Given the description of an element on the screen output the (x, y) to click on. 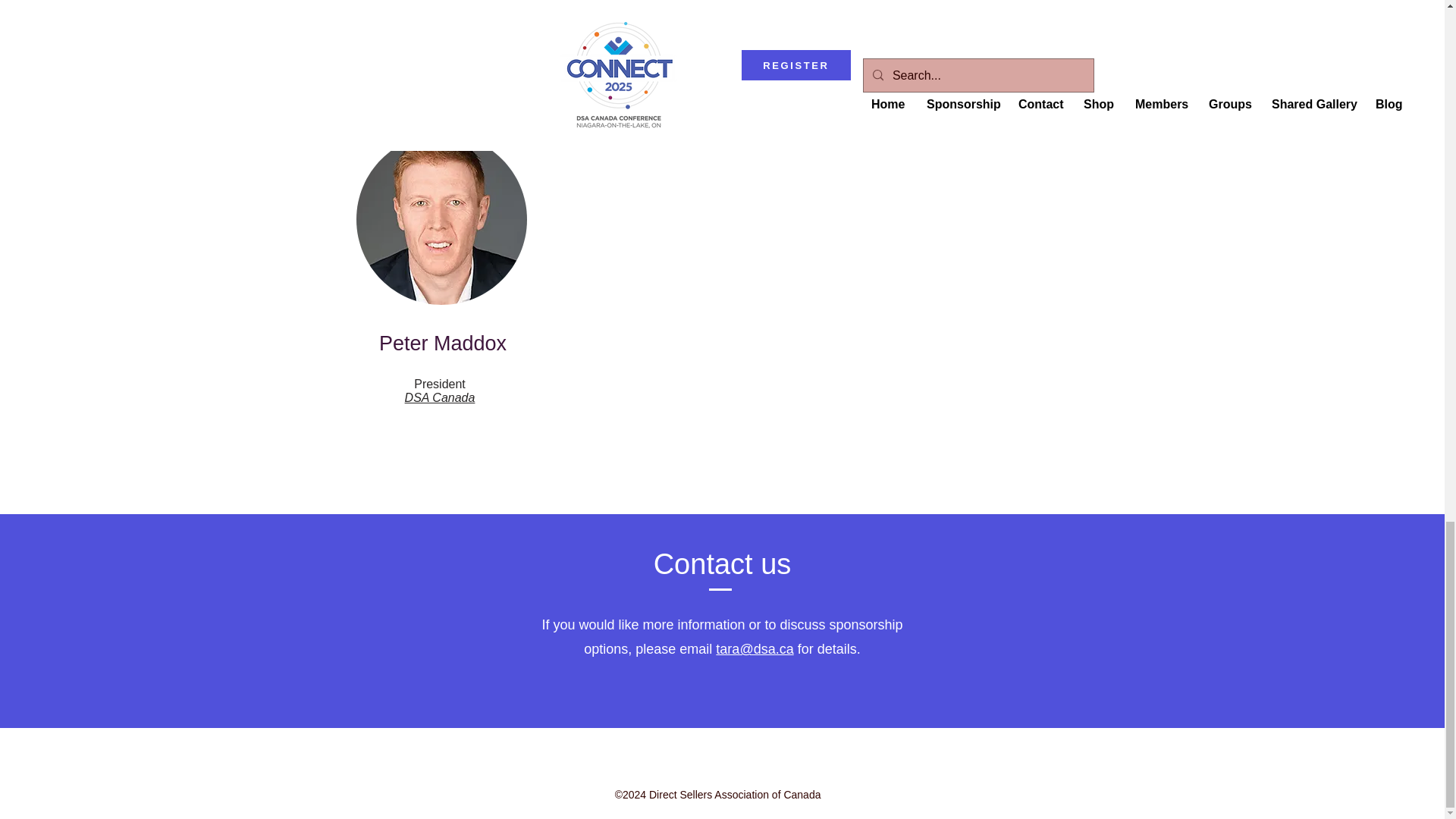
Siskinds LLP (627, 22)
DSA Canada (1004, 24)
Miller Thomson LLP (815, 11)
DSA Canada (440, 397)
Millar Kreklewetz LLP (439, 11)
